Given the description of an element on the screen output the (x, y) to click on. 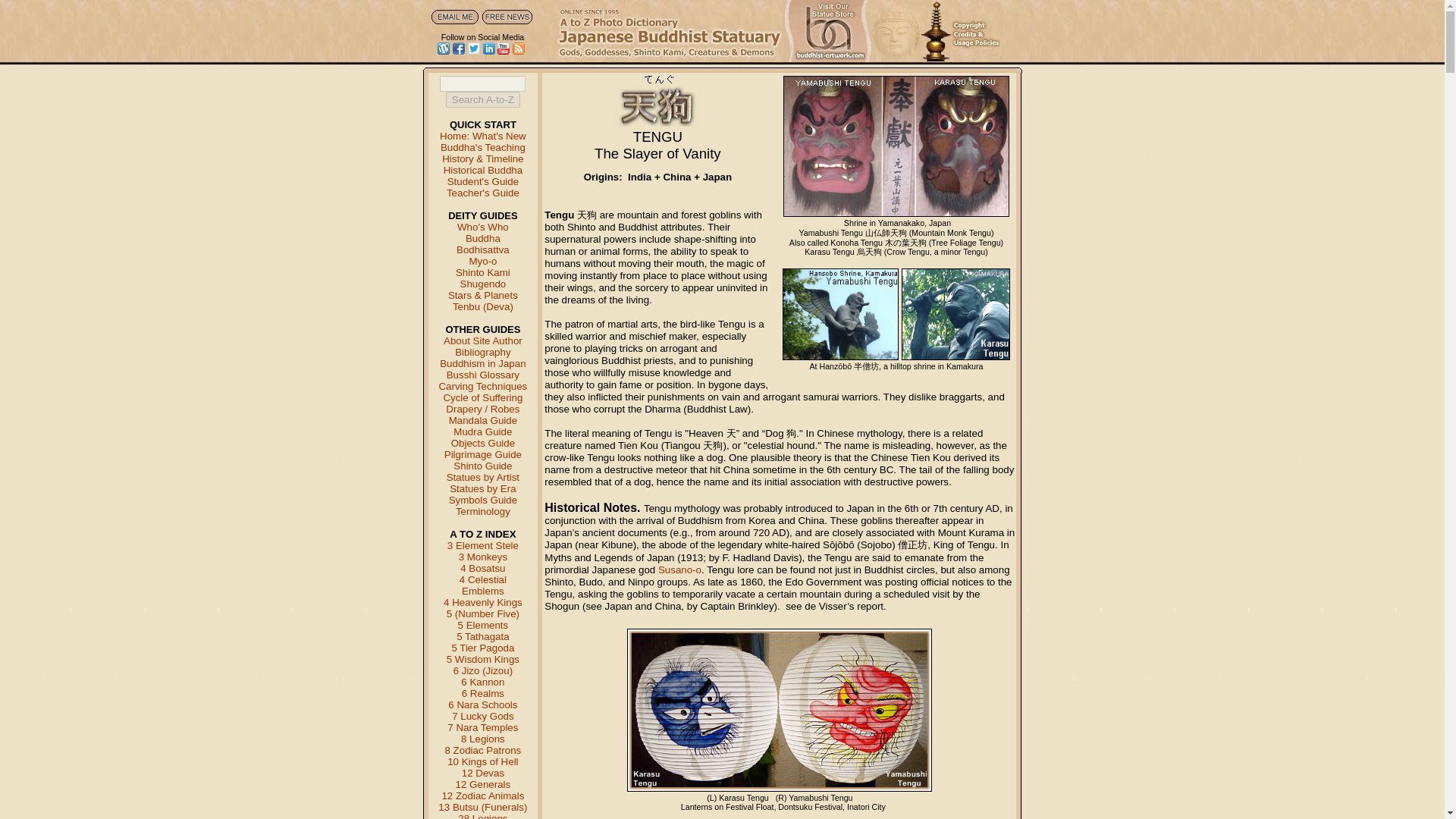
Free RSS Buddha News Feed (518, 48)
Mudra Guide (482, 431)
Home: What's New (482, 135)
Search A-to-Z (482, 99)
Who's Who (482, 226)
Pilgrimage Guide (482, 454)
Sign Up for Our Free Newsletter on Buddhist Statuary (506, 16)
About Site Author (483, 340)
Busshi Glossary (482, 374)
Statues by Artist (482, 477)
Yamabushi Tengu at Hanzobo Shrine, Kamakura (840, 314)
Student's Guide (482, 181)
Shinto Guide (482, 465)
Objects Guide (483, 442)
